Given the description of an element on the screen output the (x, y) to click on. 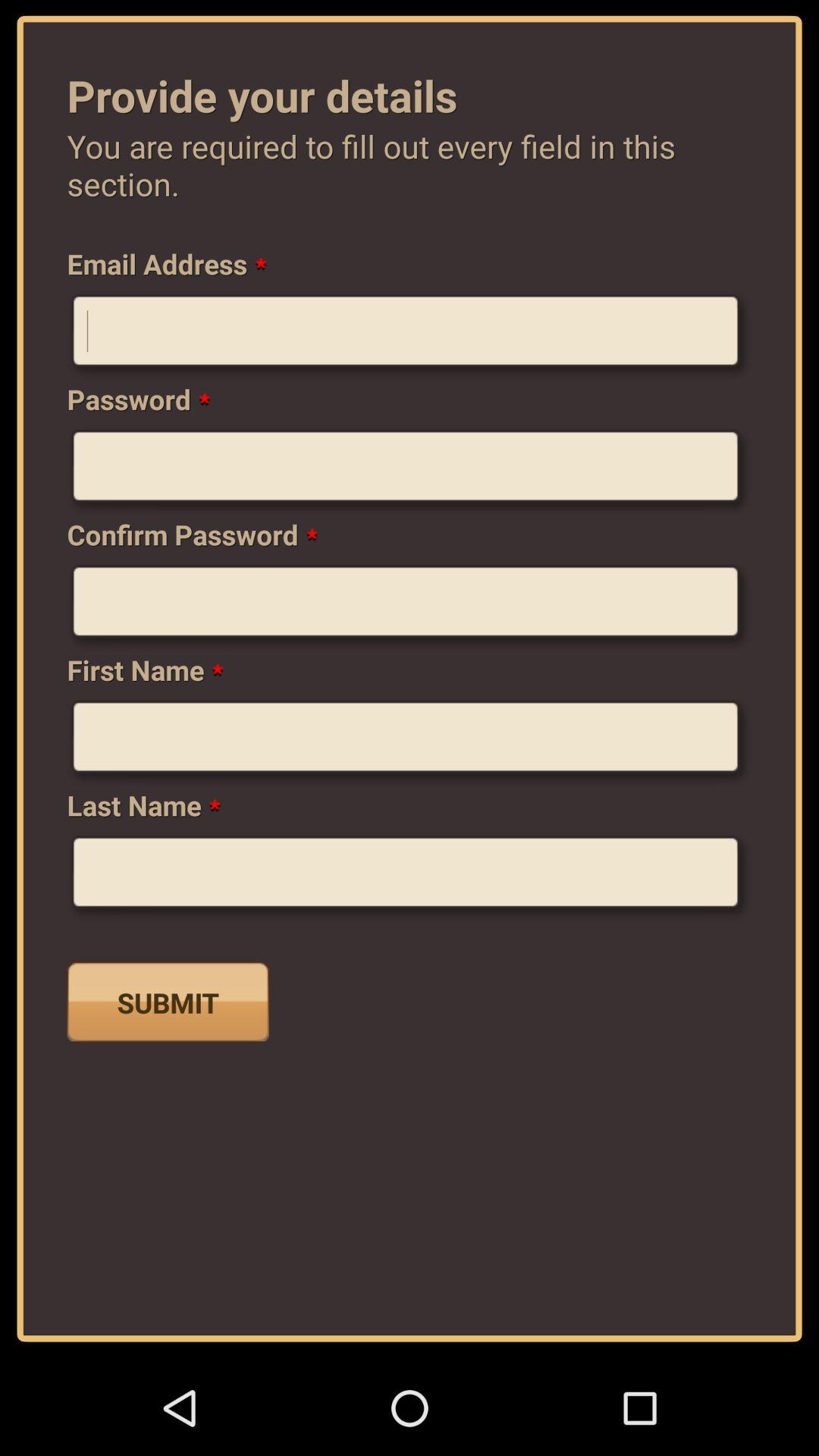
enter first name (409, 742)
